Given the description of an element on the screen output the (x, y) to click on. 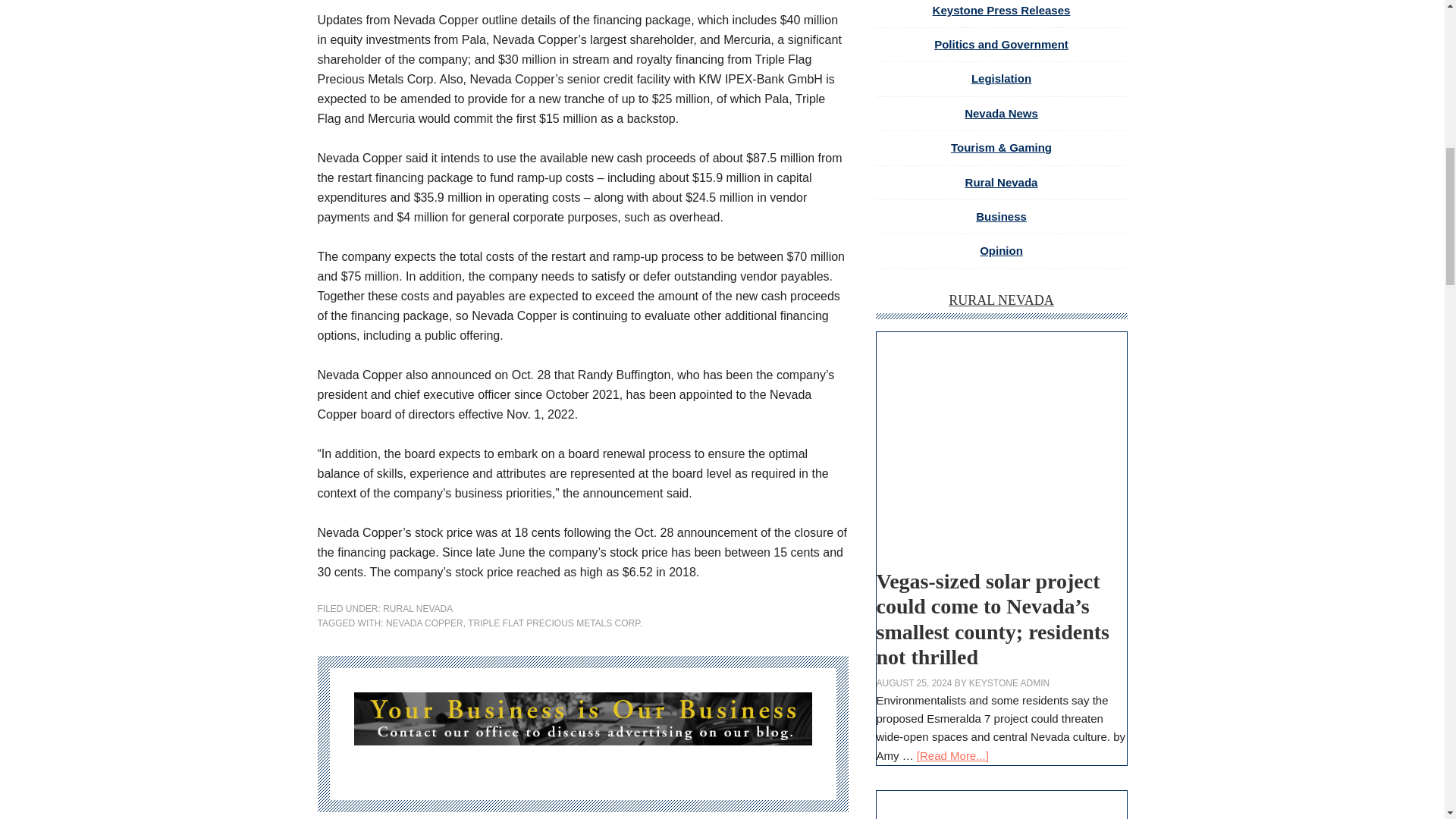
Nevada News (1000, 113)
Rural Nevada (1001, 182)
Business (1000, 215)
Legislation (1000, 78)
Keystone Press Releases (1001, 10)
Rural Nevada (1001, 299)
Opinion (1001, 250)
Politics and Government (1001, 43)
NEVADA COPPER (424, 623)
RURAL NEVADA (1001, 299)
